Given the description of an element on the screen output the (x, y) to click on. 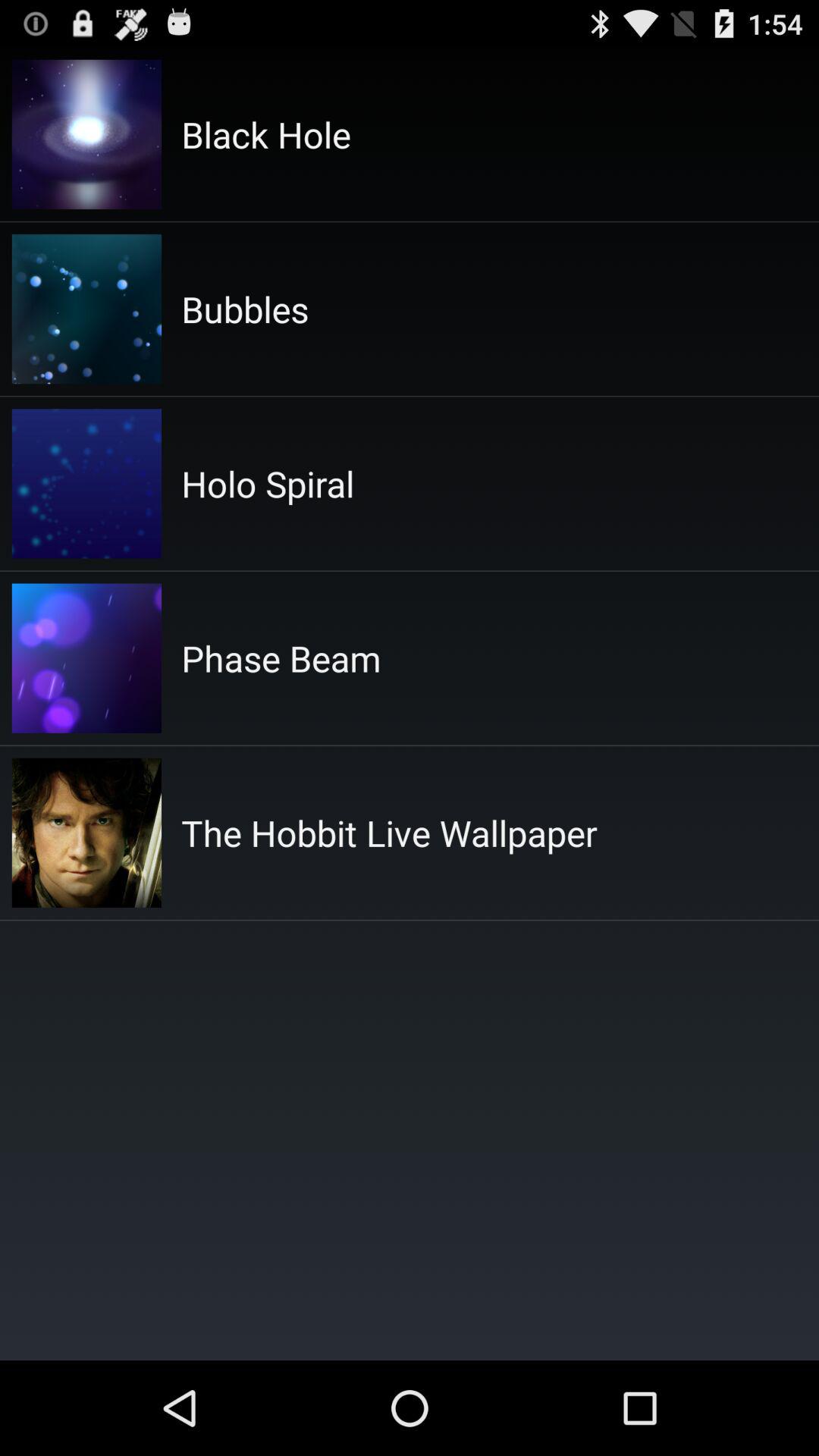
choose the bubbles app (244, 308)
